Given the description of an element on the screen output the (x, y) to click on. 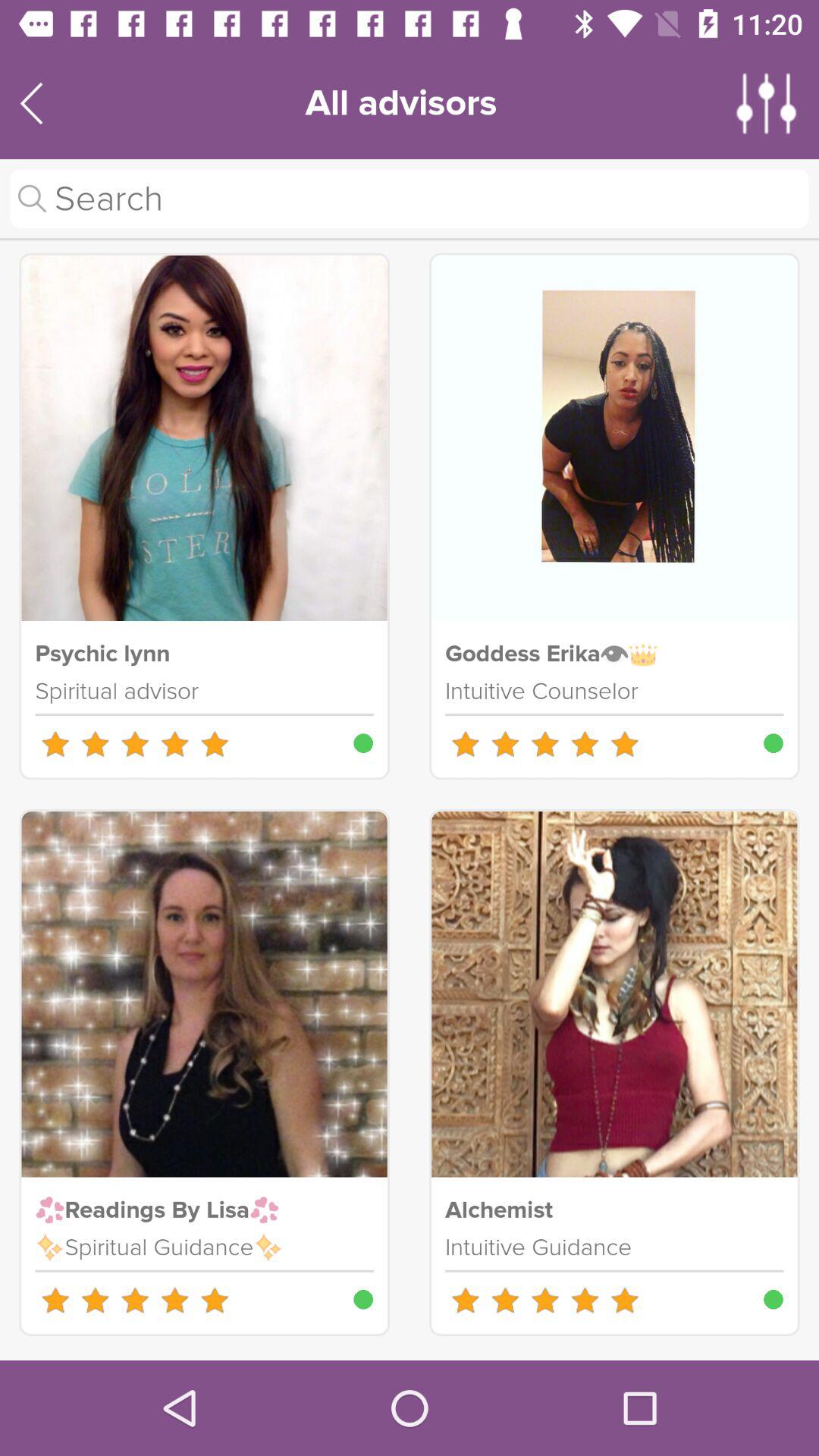
enter search (409, 198)
